Given the description of an element on the screen output the (x, y) to click on. 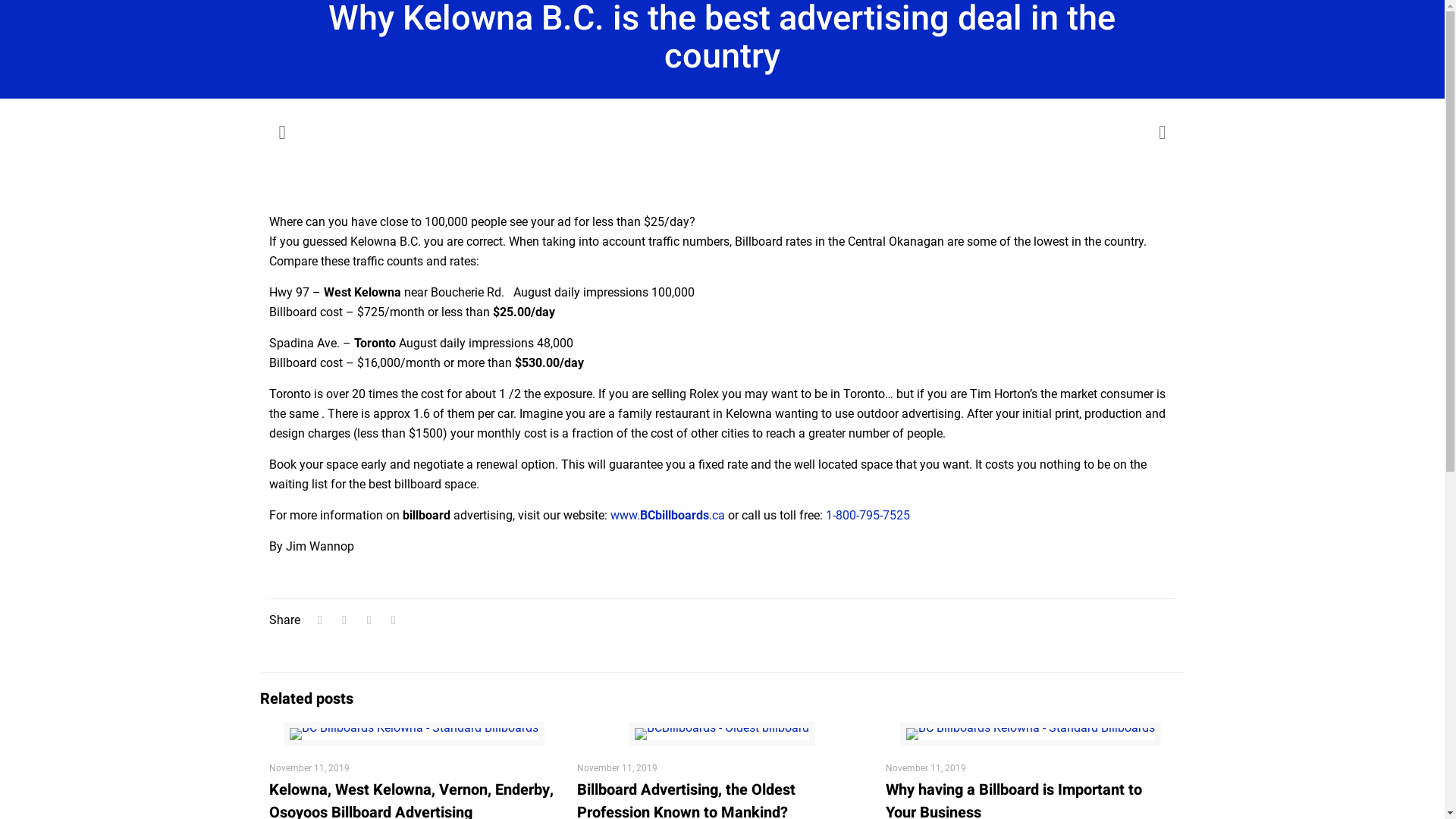
www.BCbillboards.ca Element type: text (667, 515)
1-800-795-7525 Element type: text (867, 515)
